Given the description of an element on the screen output the (x, y) to click on. 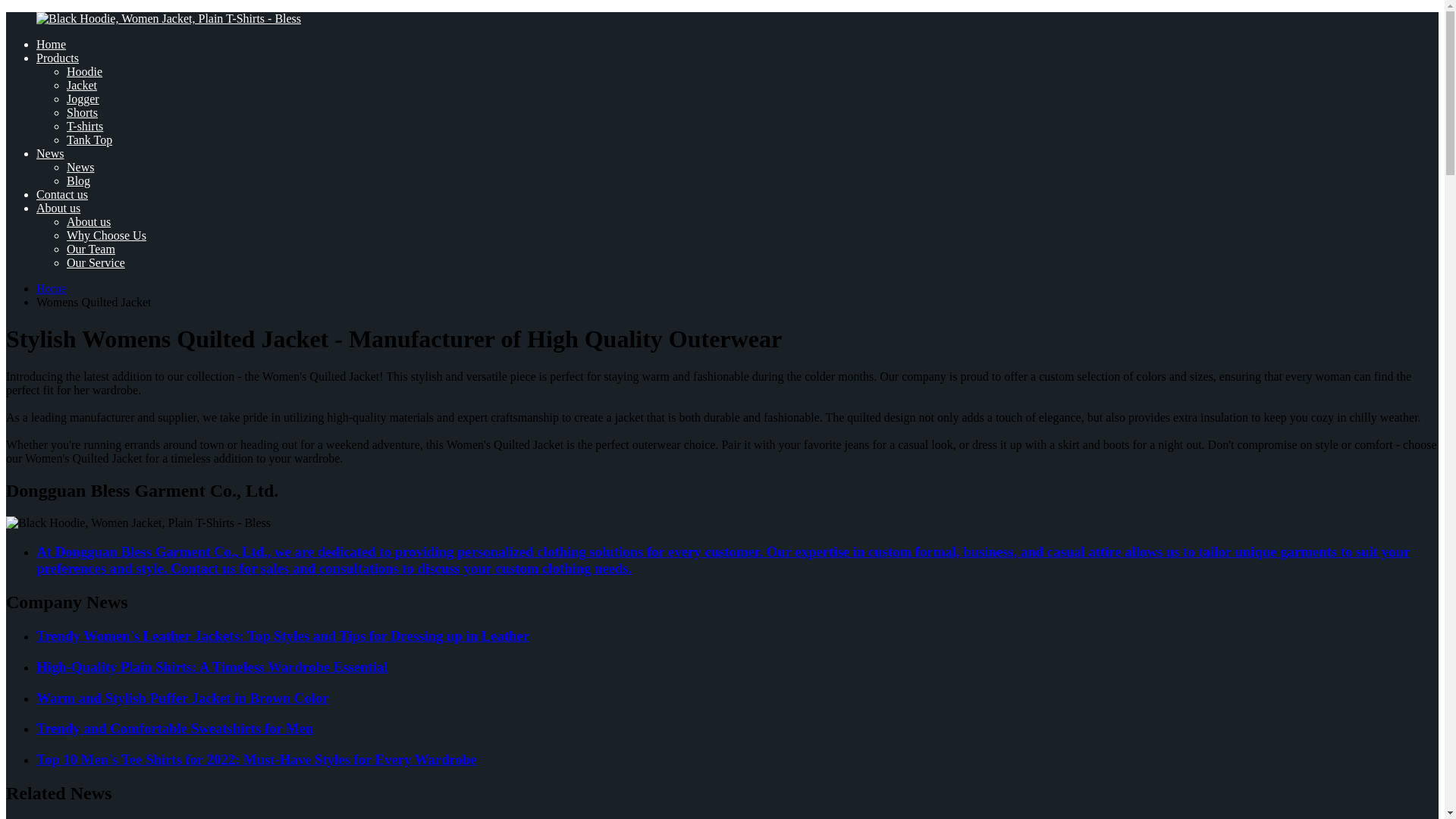
Shorts (81, 112)
About us (88, 221)
Jogger (82, 98)
Home (50, 287)
Contact us (61, 194)
Home (50, 43)
About us (58, 207)
Hoodie (83, 71)
Why Choose Us (106, 235)
News (50, 153)
Blog (78, 180)
Tank Top (89, 139)
Our Service (95, 262)
Products (57, 57)
Our Team (90, 248)
